Given the description of an element on the screen output the (x, y) to click on. 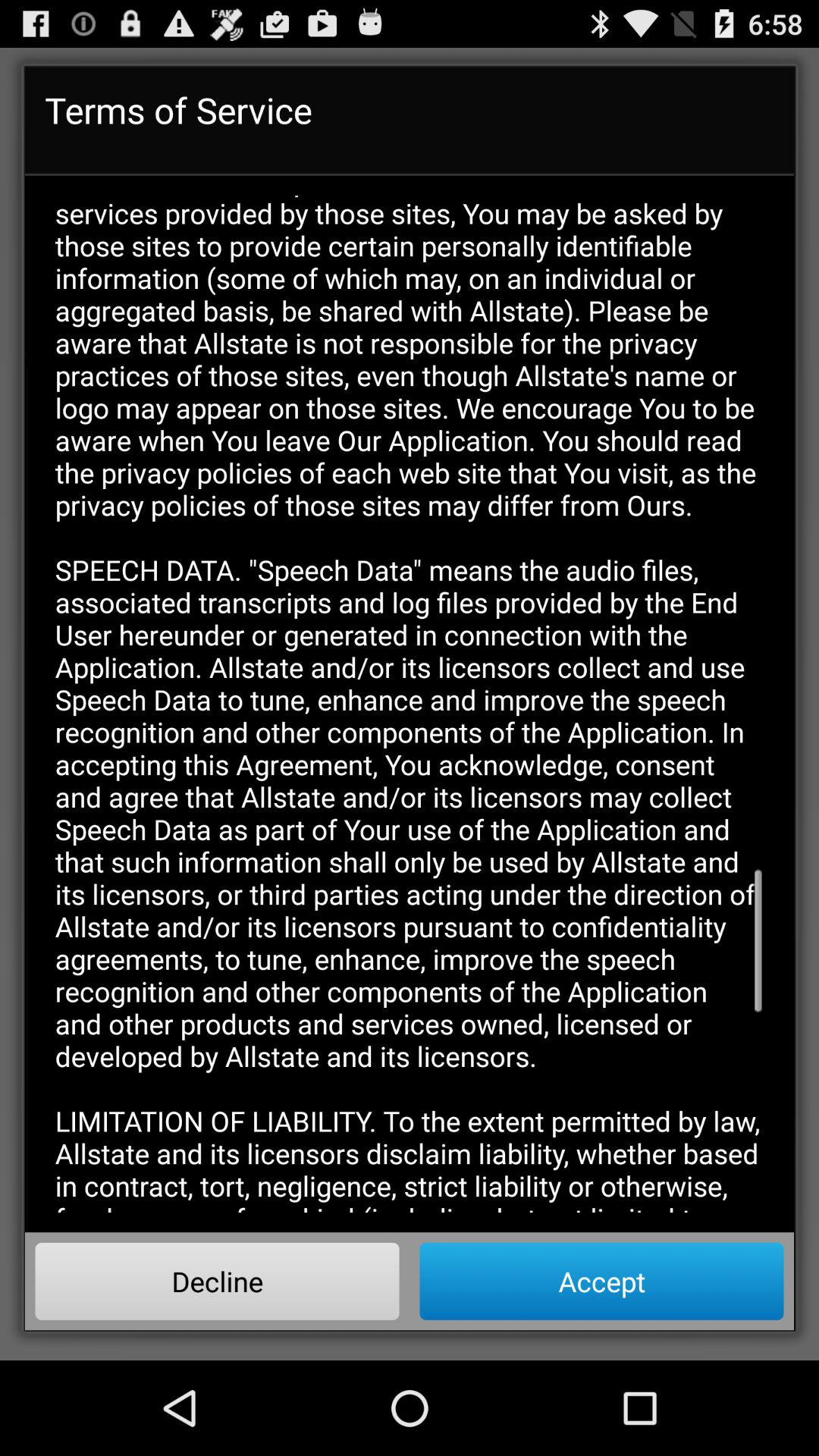
turn off the accept (601, 1281)
